Given the description of an element on the screen output the (x, y) to click on. 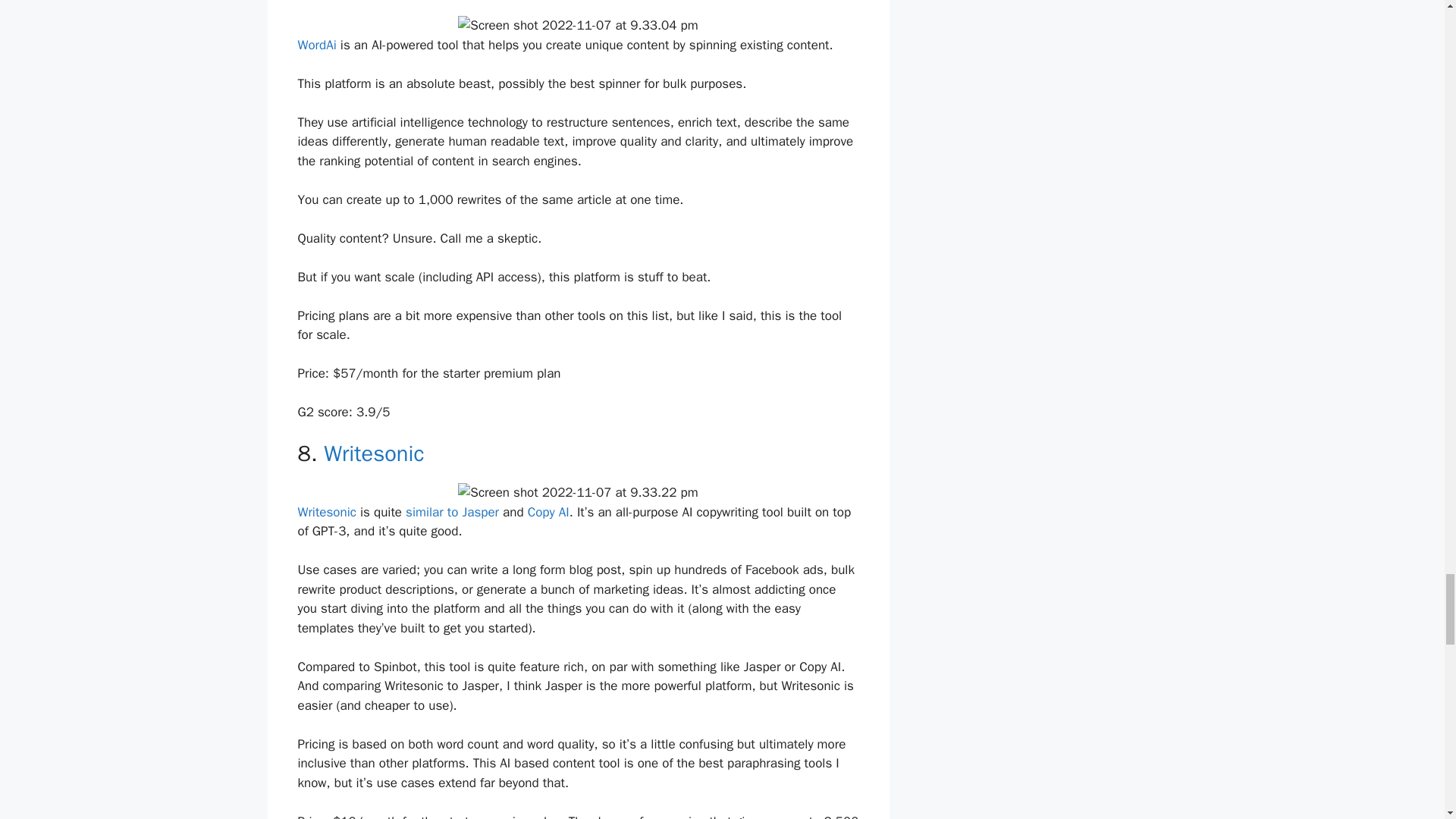
Copy AI (548, 512)
WordAi (356, 0)
Writesonic (373, 453)
WordAi (316, 44)
Writesonic (326, 512)
similar to Jasper (452, 512)
